Given the description of an element on the screen output the (x, y) to click on. 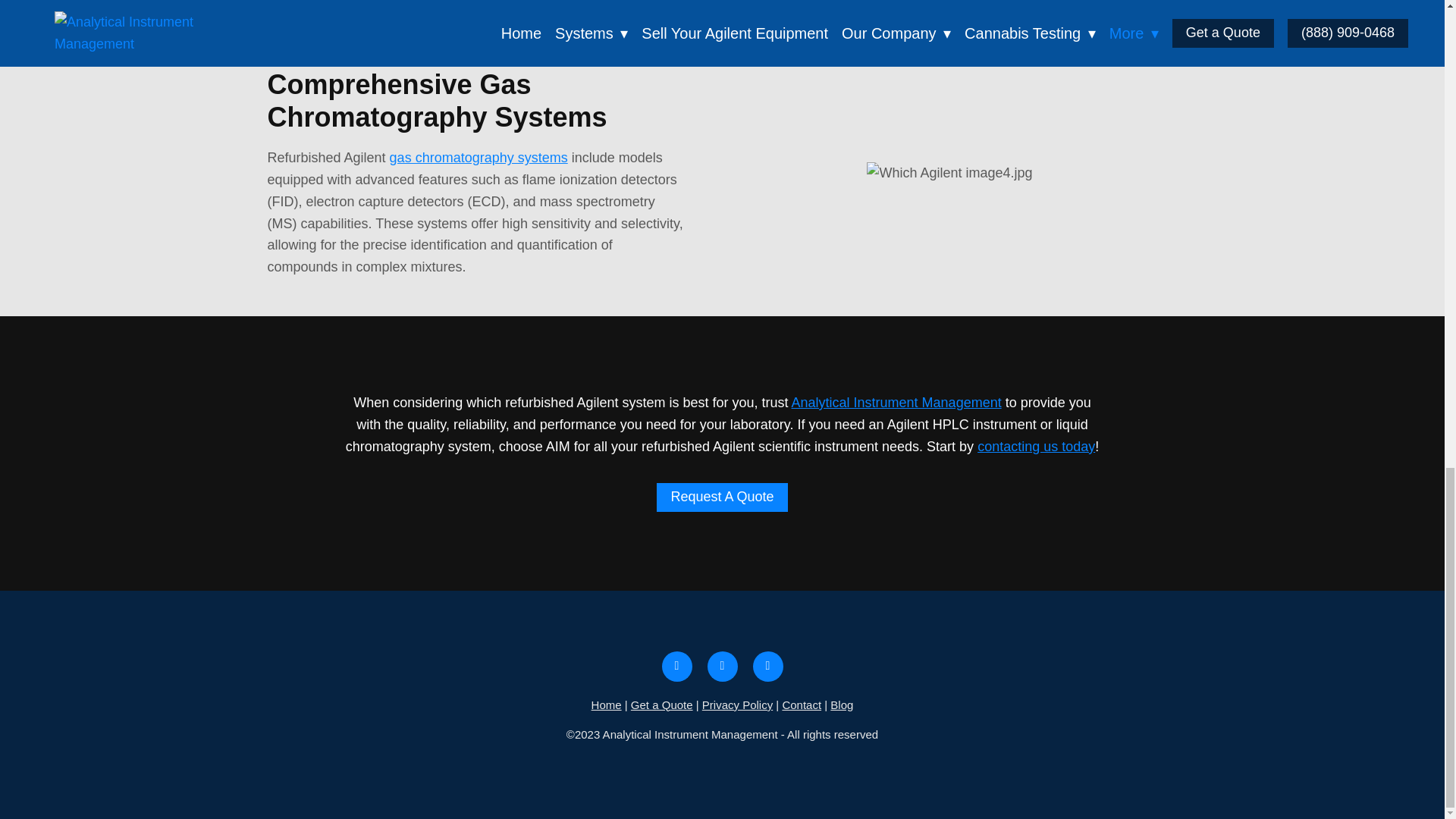
Privacy Policy (737, 704)
Get a Quote (661, 704)
Request A Quote (721, 497)
Home (606, 704)
contacting us today (1035, 446)
gas chromatography systems (478, 157)
Analytical Instrument Management (896, 402)
